Given the description of an element on the screen output the (x, y) to click on. 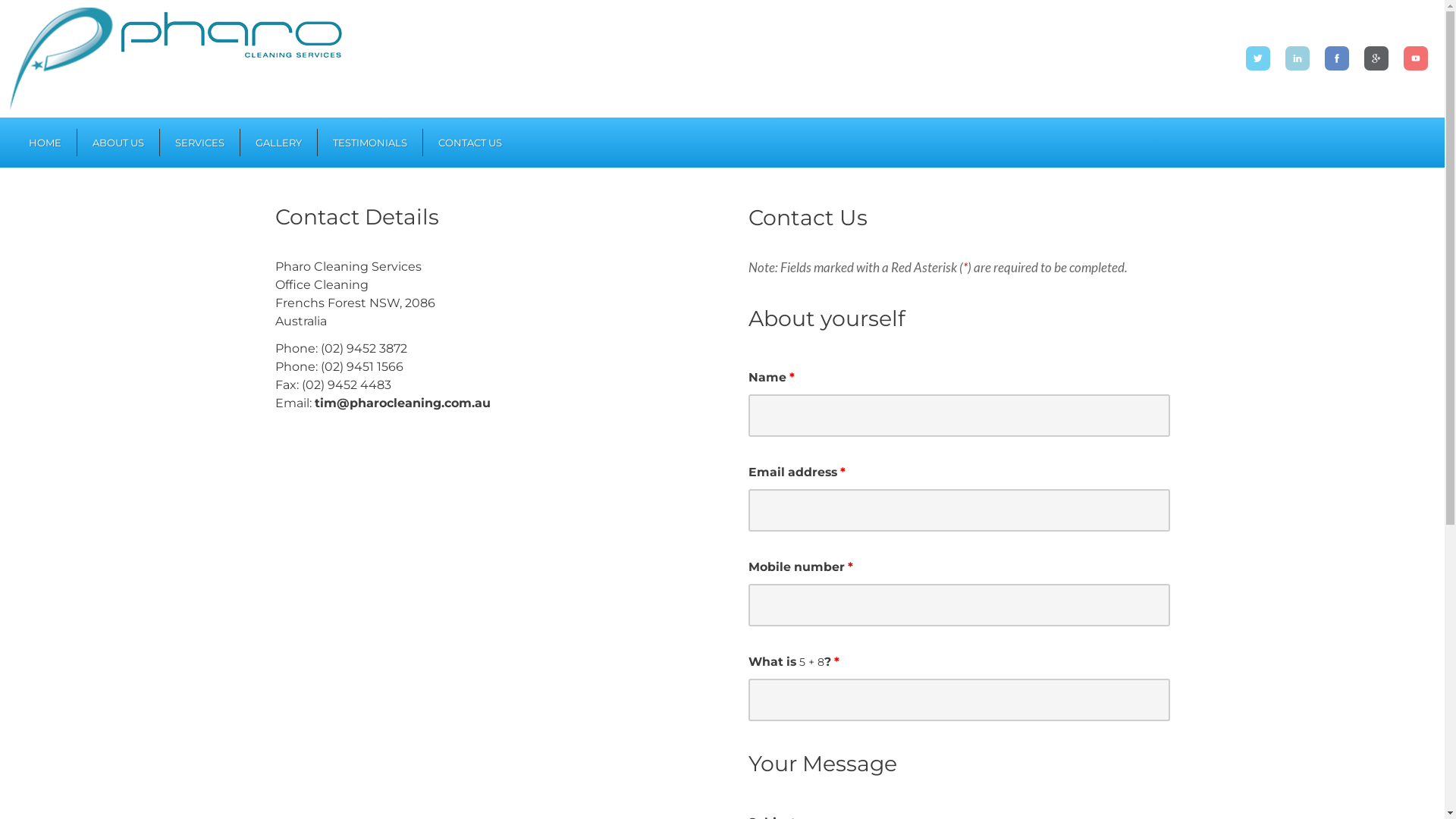
YouTube Element type: text (1414, 58)
TESTIMONIALS Element type: text (368, 142)
ABOUT US Element type: text (118, 142)
Embedded Google map Element type: hover (425, 582)
Facebook Element type: text (1336, 58)
Google+ Element type: text (1375, 58)
CONTACT US Element type: text (470, 142)
GALLERY Element type: text (277, 142)
SERVICES Element type: text (198, 142)
LinkedIn Element type: text (1296, 58)
HOME Element type: text (44, 142)
tim@pharocleaning.com.au Element type: text (401, 402)
Twitter Element type: text (1257, 58)
